Given the description of an element on the screen output the (x, y) to click on. 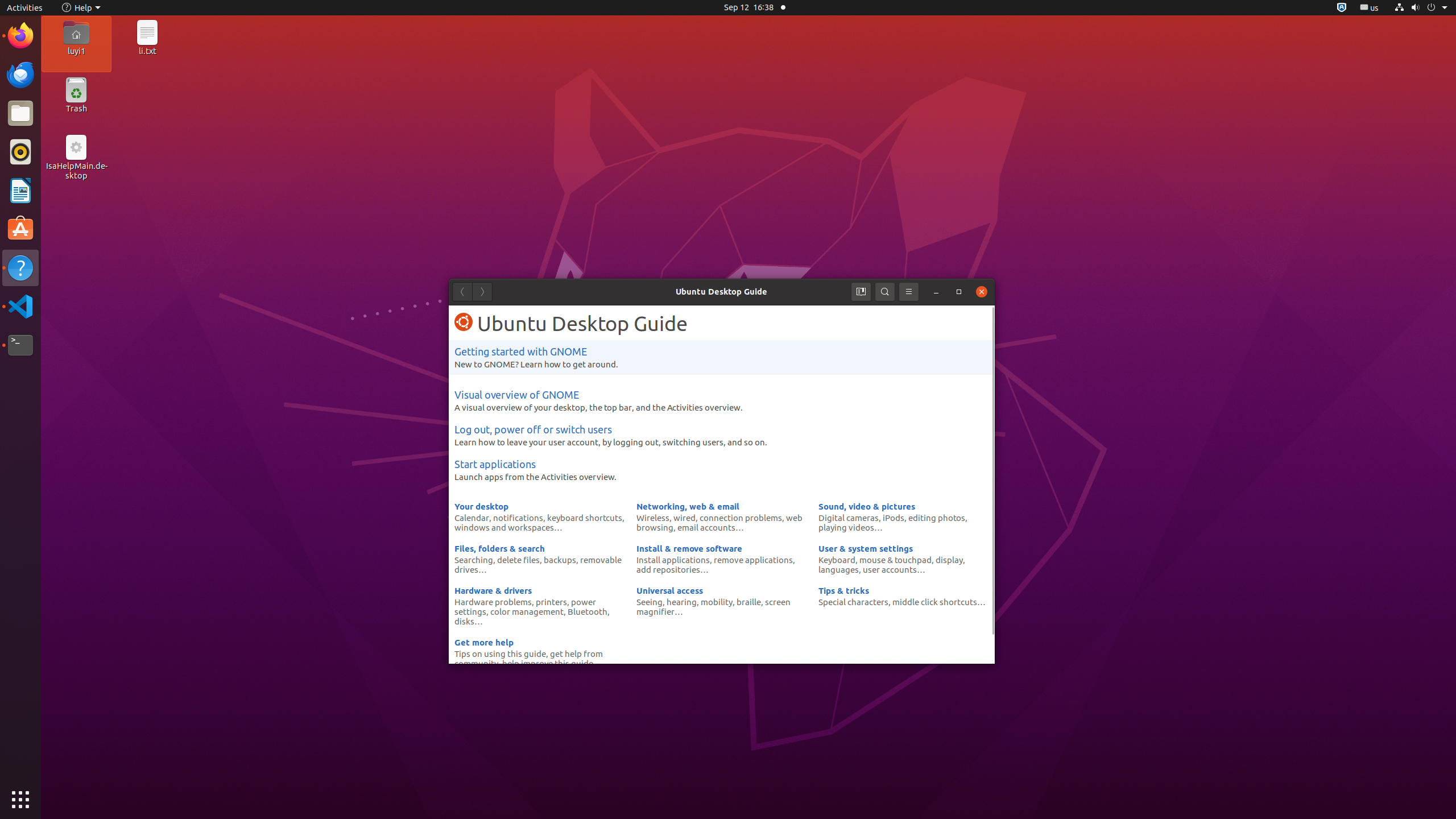
Calendar Element type: link (471, 517)
IsaHelpMain.desktop Element type: label (75, 170)
Bluetooth Element type: link (587, 611)
color management Element type: link (526, 611)
